Given the description of an element on the screen output the (x, y) to click on. 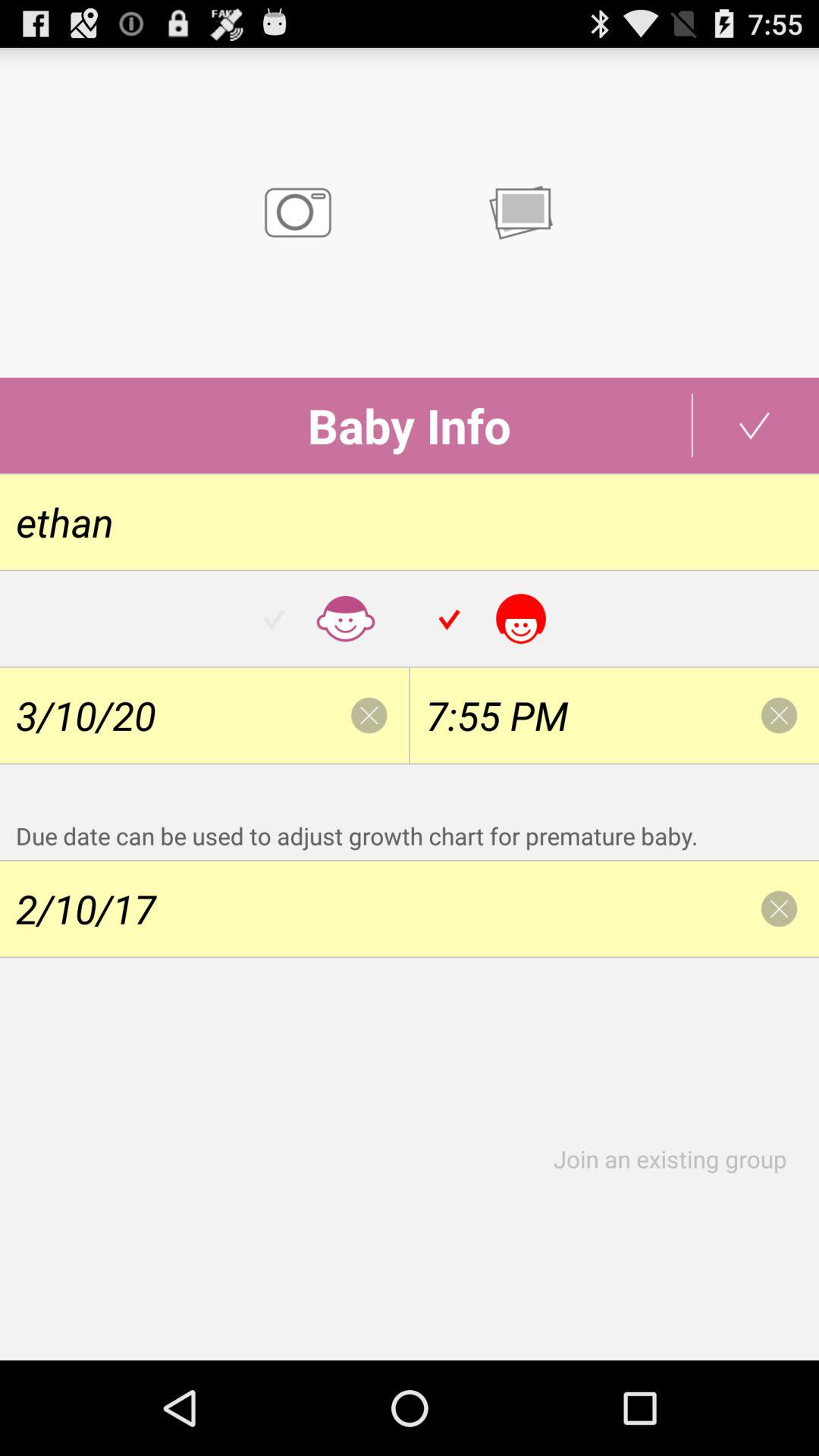
click on boy icon below ethan (321, 618)
select the wrong button which is right to 755 pm (779, 715)
select the text above the navigation bar (678, 1158)
select the tick mark which is beside the text baby info (755, 425)
click on  the 755 pm (614, 715)
